Given the description of an element on the screen output the (x, y) to click on. 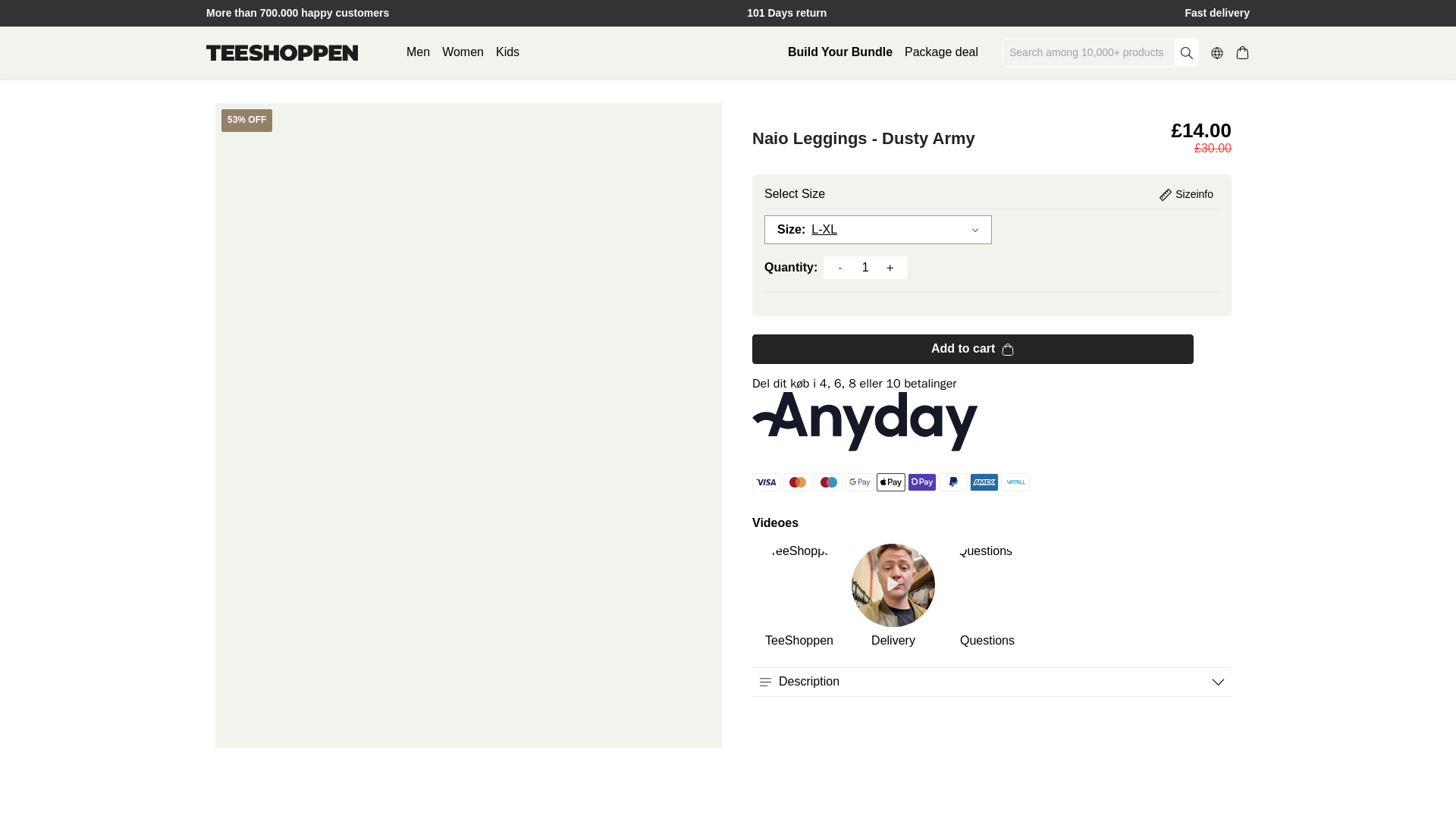
Package deal (941, 51)
Men (417, 51)
Kids (507, 51)
Build Your Bundle (839, 51)
Women (462, 51)
